Given the description of an element on the screen output the (x, y) to click on. 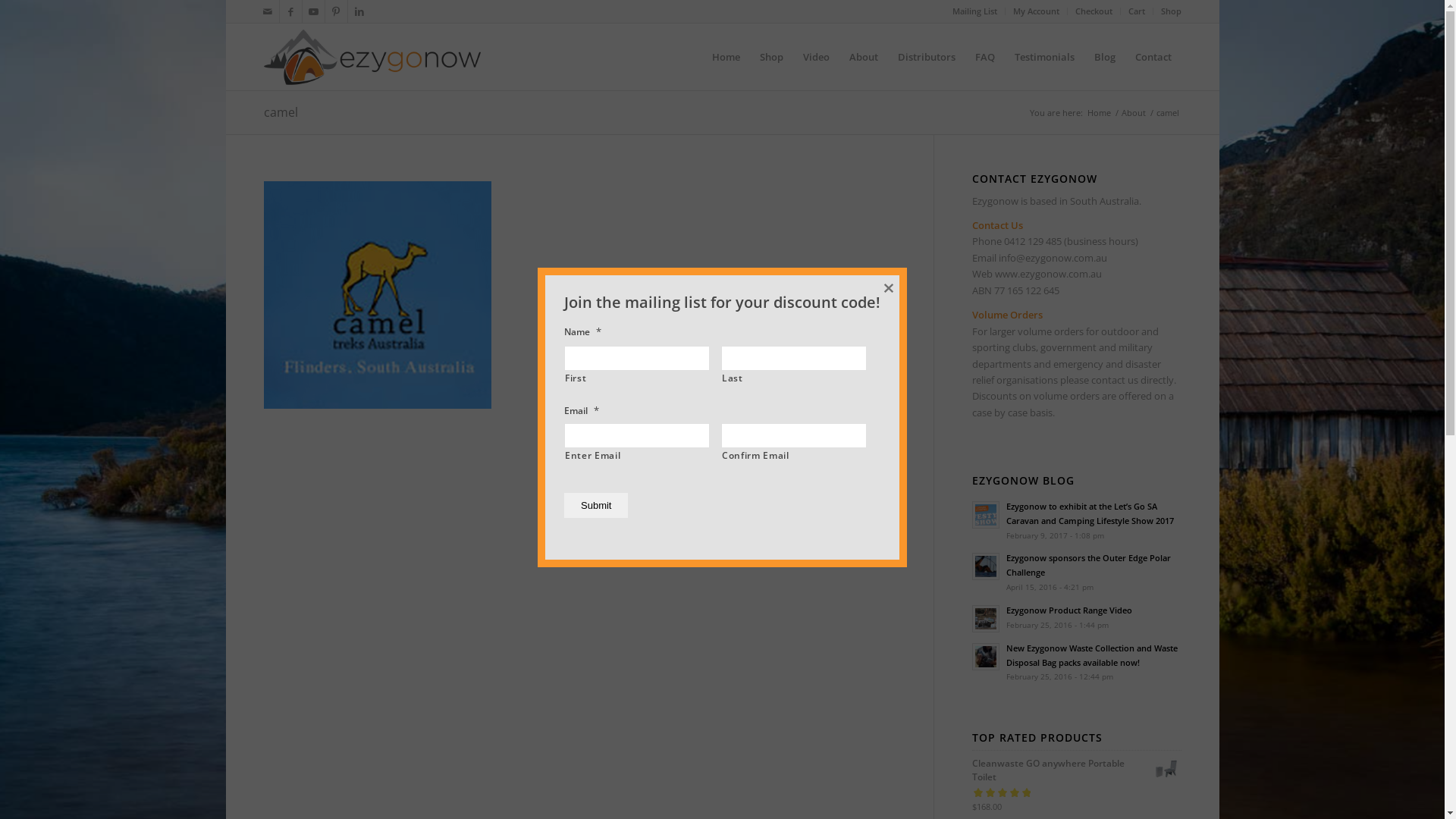
Shop Element type: text (1170, 10)
About Element type: text (862, 56)
Cart Element type: text (1136, 10)
LinkedIn Element type: hover (358, 11)
My Account Element type: text (1036, 10)
Testimonials Element type: text (1043, 56)
Home Element type: text (725, 56)
camel Element type: text (280, 111)
Youtube Element type: hover (312, 11)
Home Element type: text (1098, 112)
ezygonow-logo-390 Element type: hover (371, 56)
Pinterest Element type: hover (335, 11)
About Element type: text (1133, 112)
Mail Element type: hover (267, 11)
FAQ Element type: text (984, 56)
Blog Element type: text (1104, 56)
Facebook Element type: hover (290, 11)
Submit Element type: text (595, 504)
Mailing List Element type: text (974, 10)
Ezygonow Product Range Video
February 25, 2016 - 1:44 pm Element type: text (1076, 617)
Checkout Element type: text (1093, 10)
Shop Element type: text (770, 56)
Contact Element type: text (1153, 56)
Video Element type: text (816, 56)
Cleanwaste GO anywhere Portable Toilet Element type: text (1076, 770)
Distributors Element type: text (925, 56)
